Given the description of an element on the screen output the (x, y) to click on. 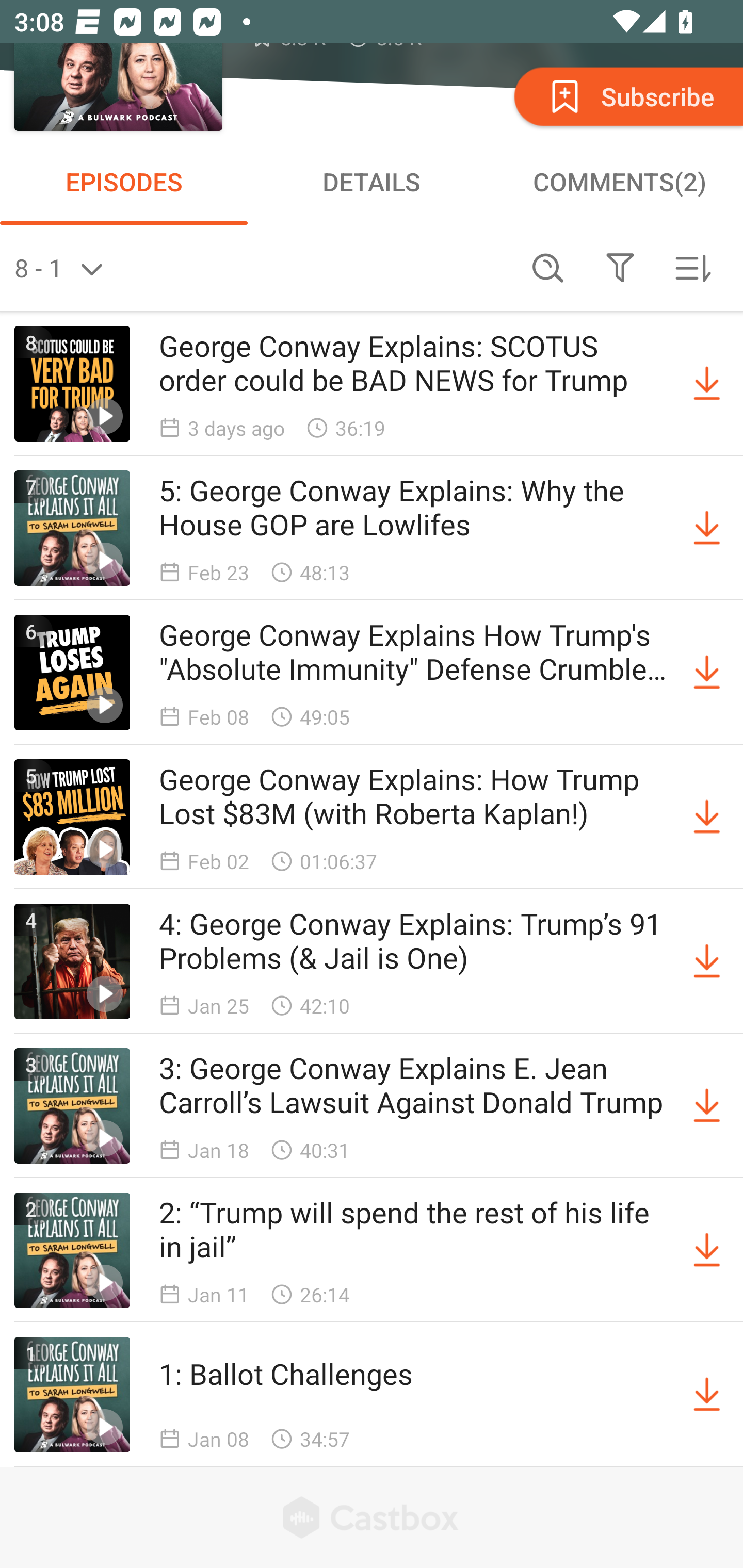
Subscribe (627, 96)
EPISODES (123, 180)
DETAILS (371, 180)
COMMENTS(2) (619, 180)
8 - 1  (262, 268)
 Search (547, 268)
 (619, 268)
 Sorted by newest first (692, 268)
Download (706, 384)
Download (706, 528)
Download (706, 672)
Download (706, 816)
Download (706, 961)
Download (706, 1105)
Download (706, 1250)
Download (706, 1394)
